Given the description of an element on the screen output the (x, y) to click on. 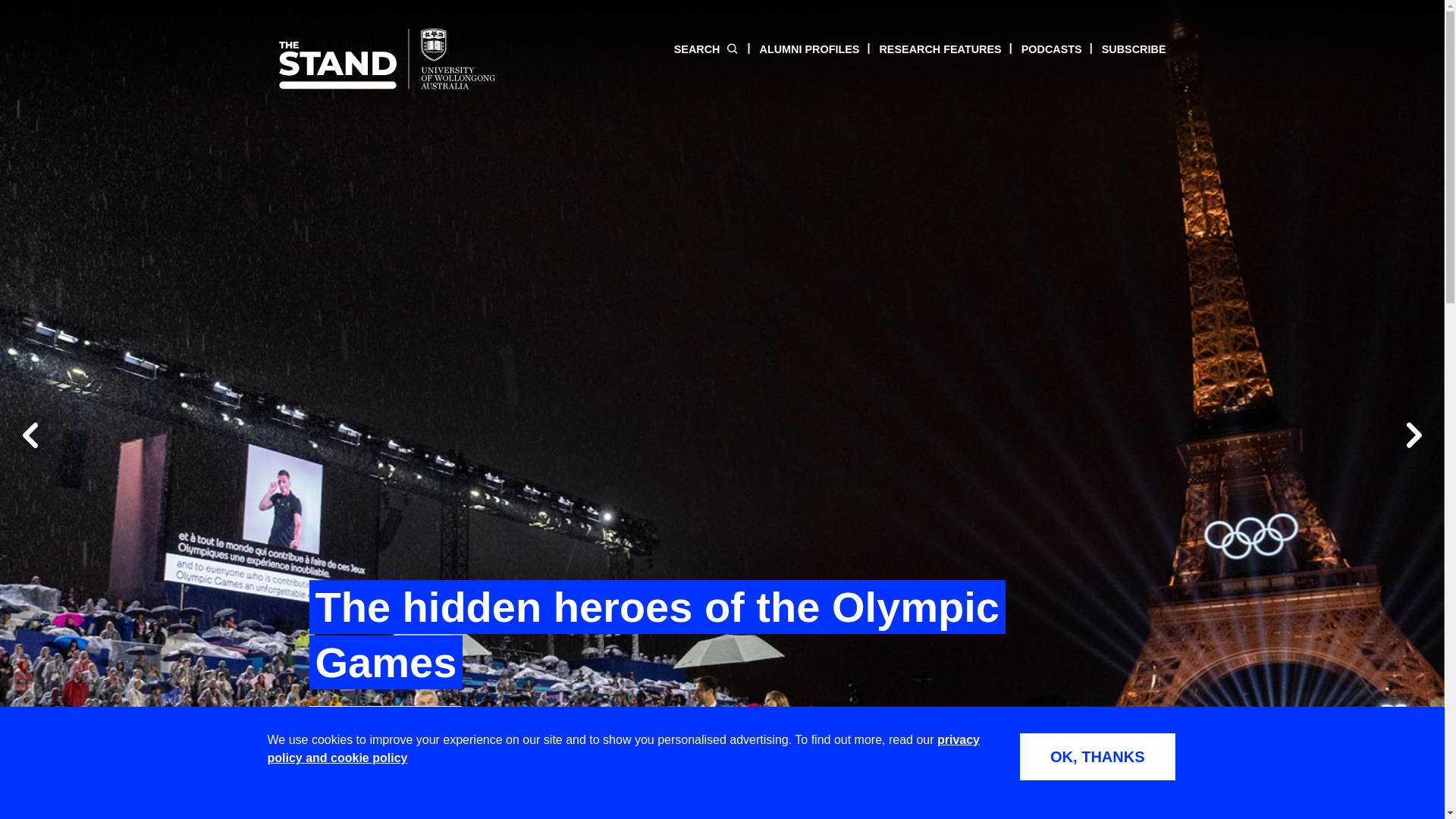
ALUMNI PROFILES (799, 48)
SEARCH (706, 48)
privacy policy and cookie policy (622, 748)
PODCASTS (1041, 48)
Privacy policy and cookie policy (622, 748)
OK, THANKS (1096, 756)
READ ARTICLE (384, 724)
SUBSCRIBE (1123, 48)
RESEARCH FEATURES (930, 48)
